Given the description of an element on the screen output the (x, y) to click on. 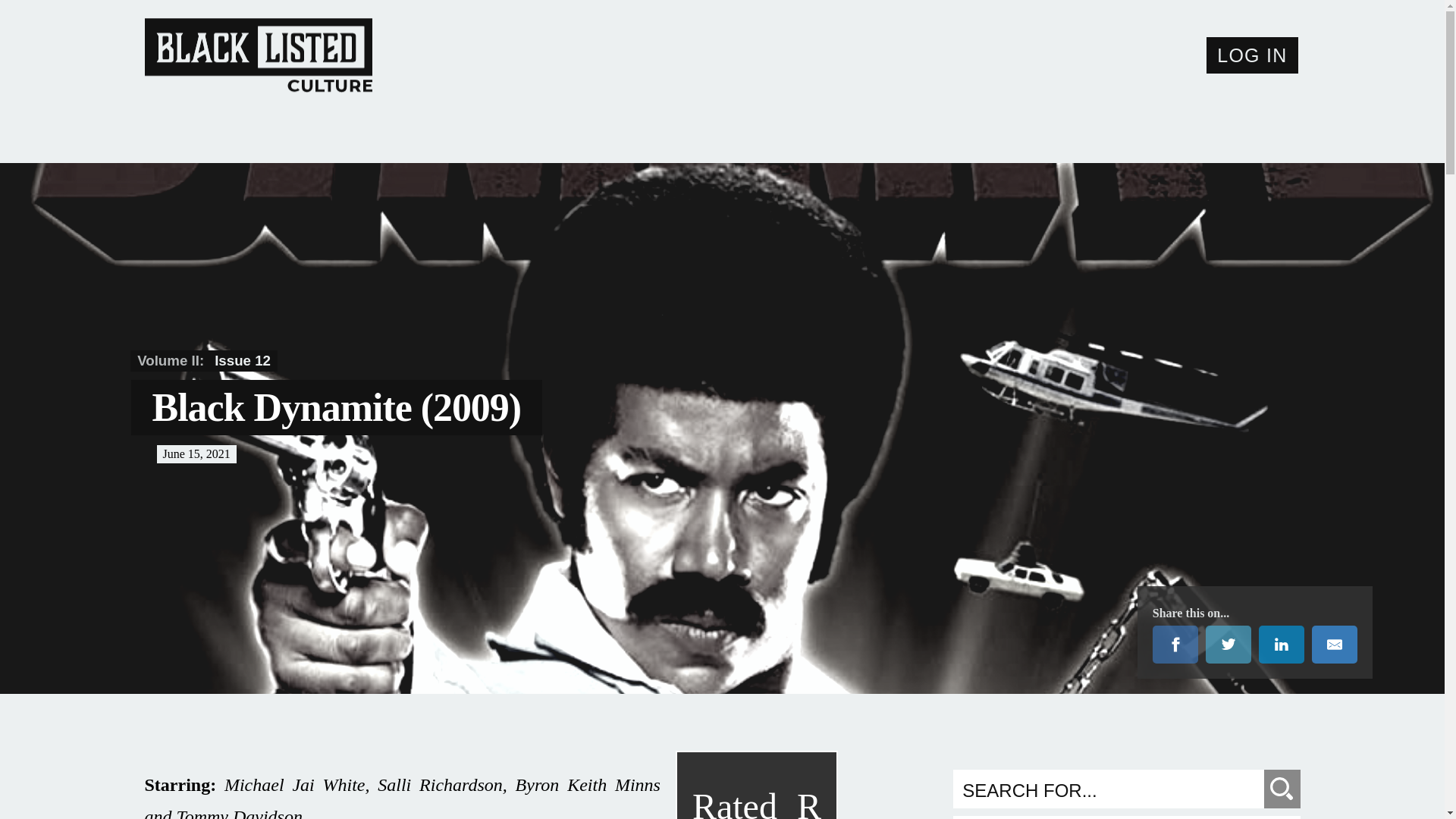
Search (1281, 788)
Share on LinkedIn (1281, 644)
BlacklistedCulture.com (295, 67)
Share on Facebook (332, 360)
LOG IN (1175, 644)
Share by E-Mail (1252, 55)
Share on Twitter (1333, 644)
